Given the description of an element on the screen output the (x, y) to click on. 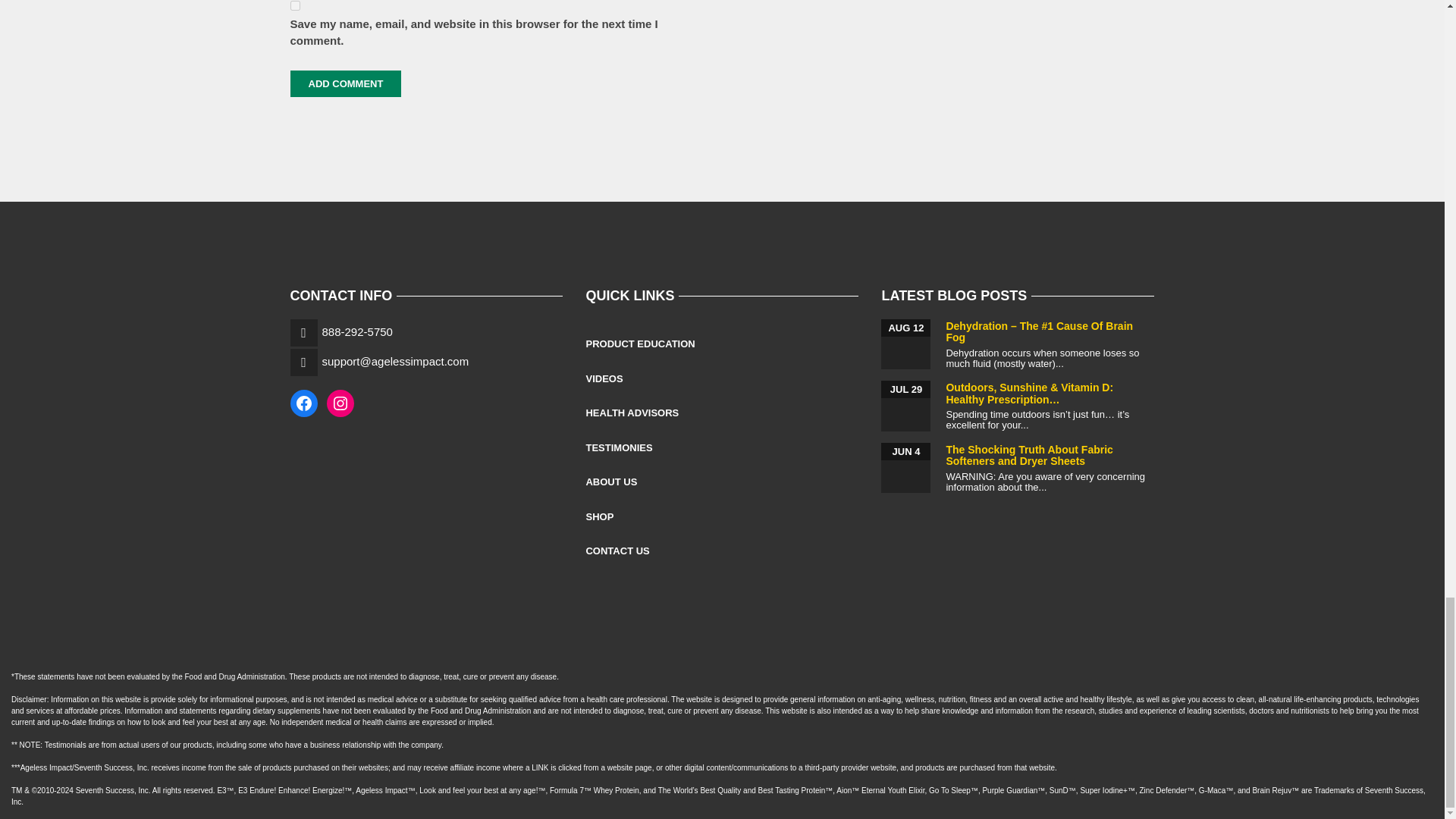
yes (294, 5)
888-292-5750 (356, 331)
Add Comment (345, 83)
Add Comment (345, 83)
